Given the description of an element on the screen output the (x, y) to click on. 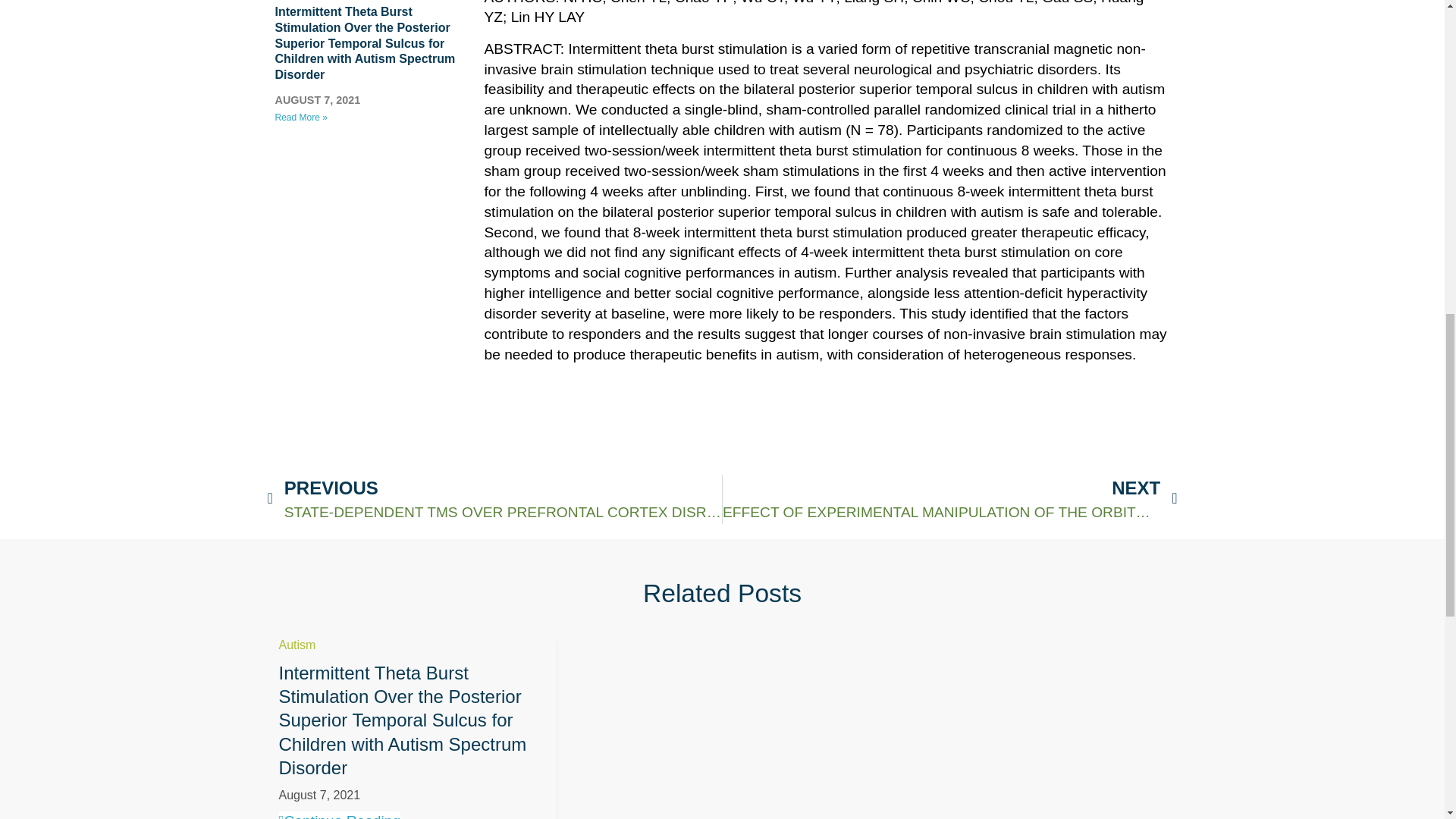
Continue Reading (340, 815)
Autism (297, 644)
